Given the description of an element on the screen output the (x, y) to click on. 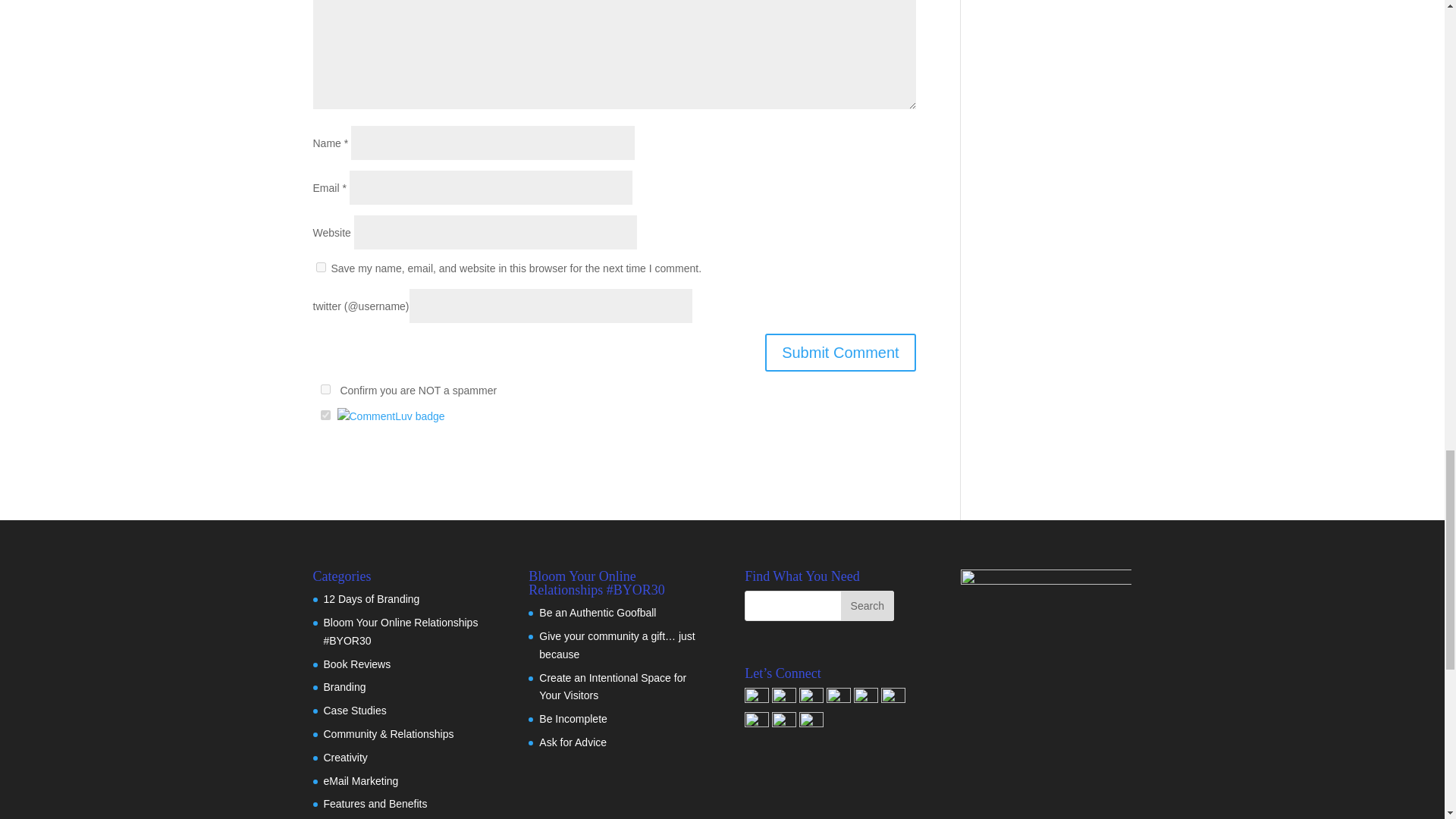
Submit Comment (840, 352)
Case Studies (354, 710)
on (324, 388)
yes (319, 266)
Search (867, 605)
on (324, 415)
CommentLuv is enabled (390, 416)
Book Reviews (356, 664)
12 Days of Branding (371, 598)
Branding (344, 686)
